Given the description of an element on the screen output the (x, y) to click on. 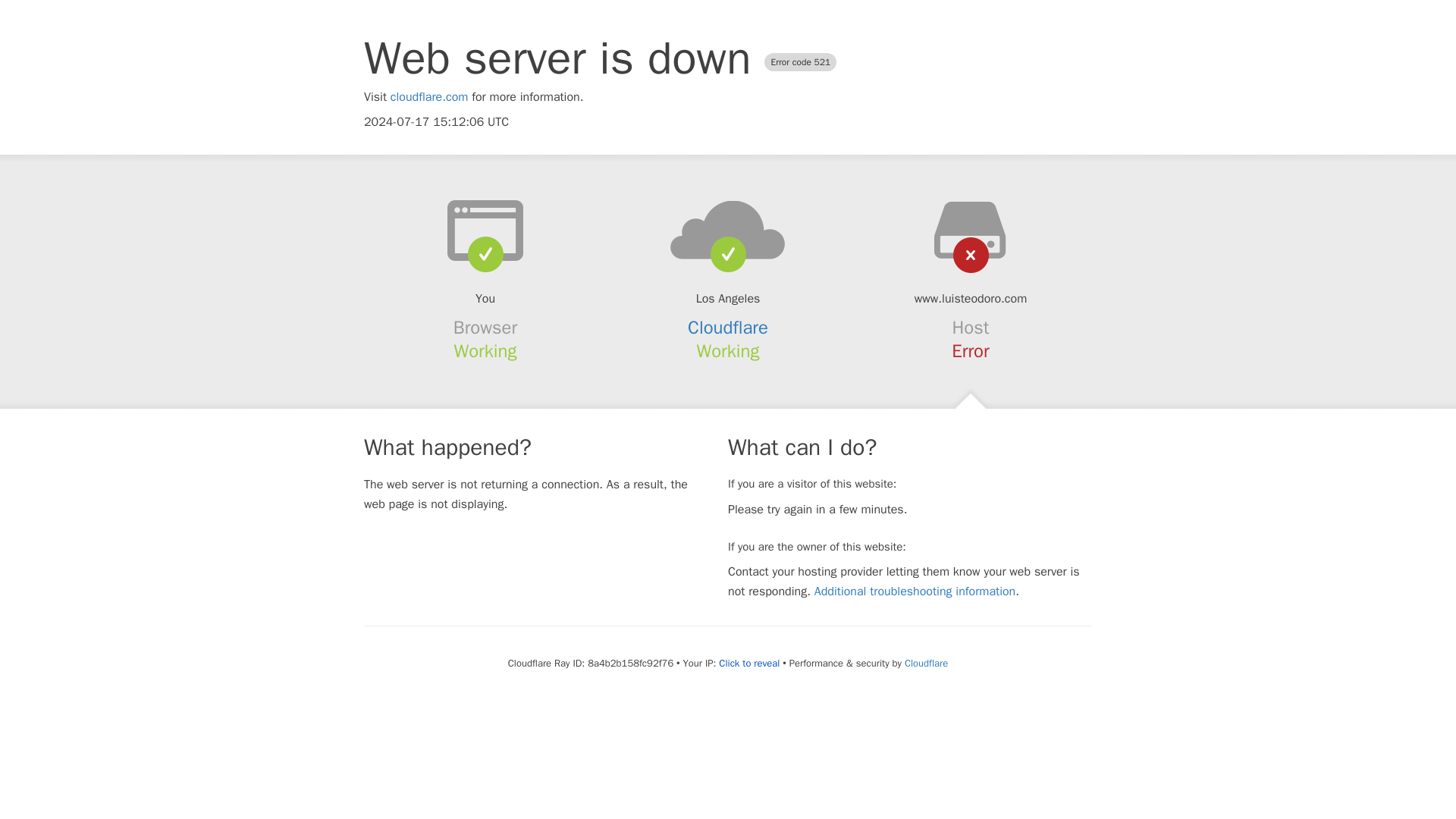
Cloudflare (925, 662)
cloudflare.com (429, 96)
Click to reveal (748, 663)
Cloudflare (727, 327)
Additional troubleshooting information (913, 590)
